Given the description of an element on the screen output the (x, y) to click on. 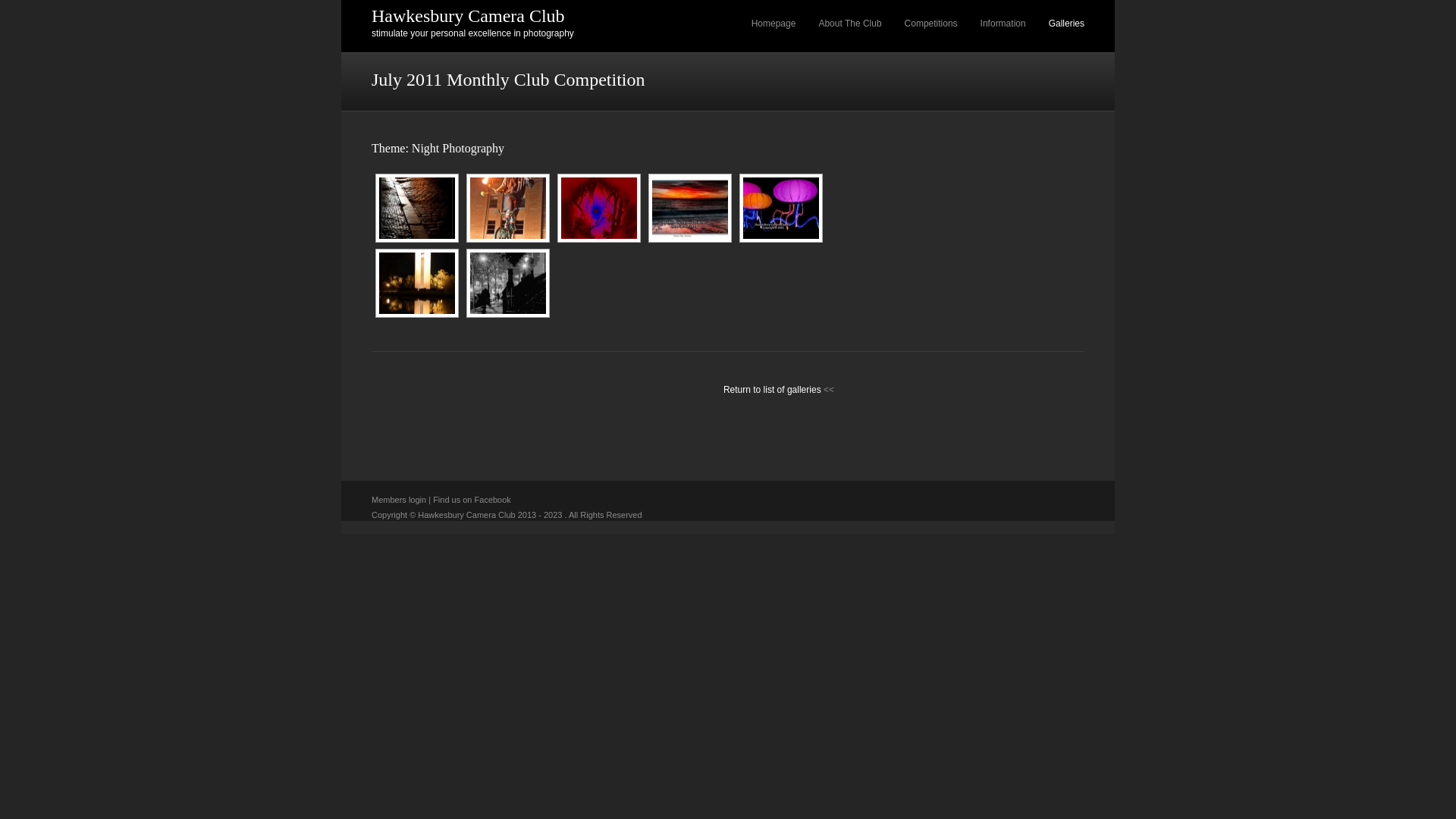
Malua Bay Sunrise frame - Olga Baldock - Merit Element type: hover (687, 207)
Jellyfish - Kerry Harris Element type: hover (780, 207)
Return to list of galleries Element type: text (772, 389)
Find us on Facebook Element type: text (472, 499)
Jellyfish - Kerry Harris - Merit Element type: hover (778, 207)
Members login Element type: text (398, 499)
Hawkesbury Camera Club Element type: text (467, 15)
Prague by Night frame - Olga Baldock - Merit Element type: hover (414, 207)
High Rider - Doug Carbery - Merit Element type: hover (505, 207)
Malua Bay Sunrise frame - Olga Baldock Element type: hover (689, 207)
Neonmoon - Kerry Harris - Merit Element type: hover (596, 207)
Nightlife - Kerry Harris Element type: hover (507, 282)
Prague by Night frame - Olga Baldock Element type: hover (416, 207)
Homepage Element type: text (773, 23)
National Carillon Canberra - Stephen Leeder Element type: hover (416, 282)
Neonmoon - Kerry Harris Element type: hover (598, 207)
High Rider - Doug Carbery Element type: hover (507, 207)
Nightlife - Kerry Harris - Merit Element type: hover (505, 282)
National Carillon Canberra - Stephen Leeder - Merit Element type: hover (414, 282)
